Given the description of an element on the screen output the (x, y) to click on. 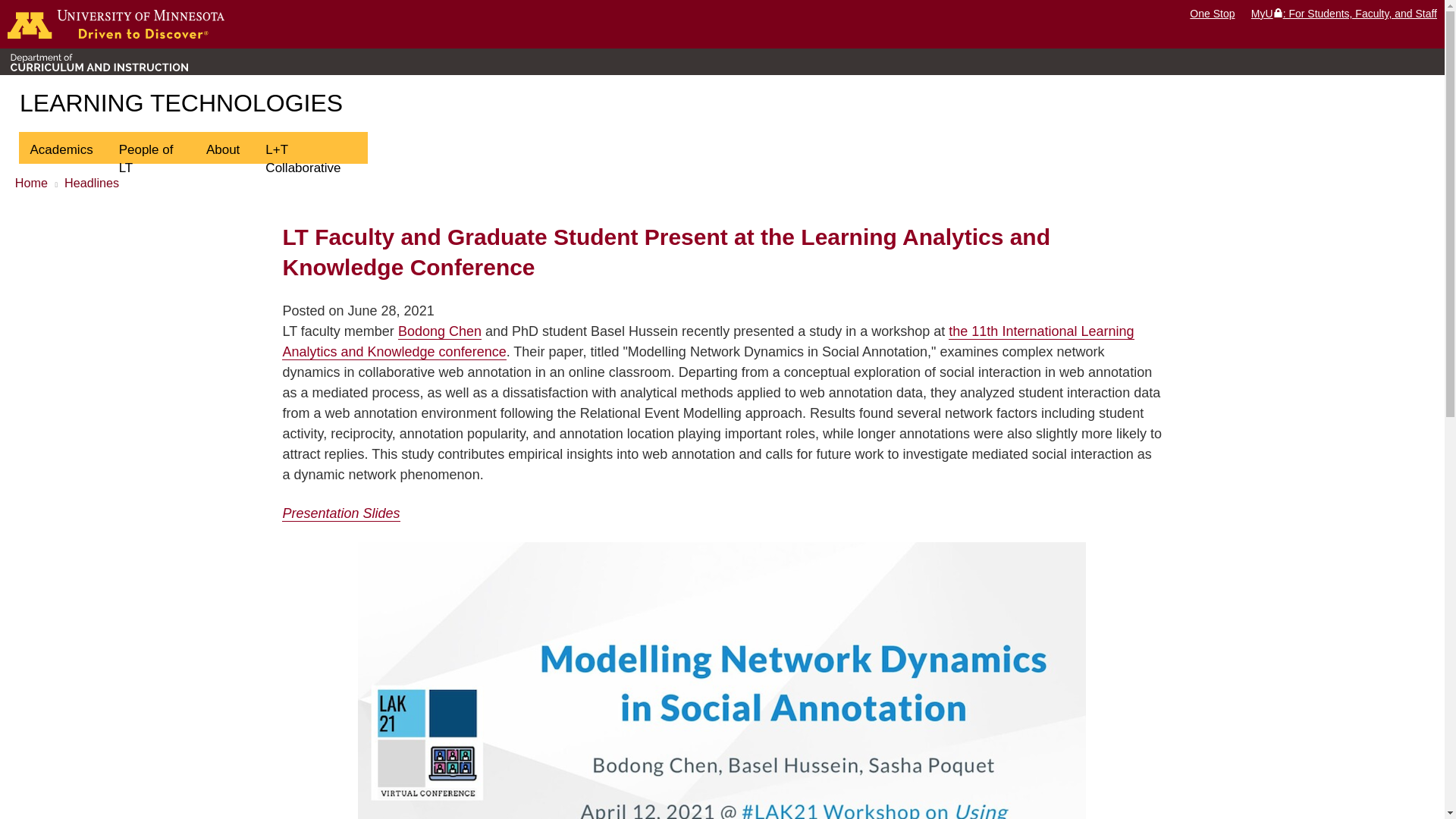
One Stop (1211, 13)
MyU: For Students, Faculty, and Staff (1343, 13)
